Given the description of an element on the screen output the (x, y) to click on. 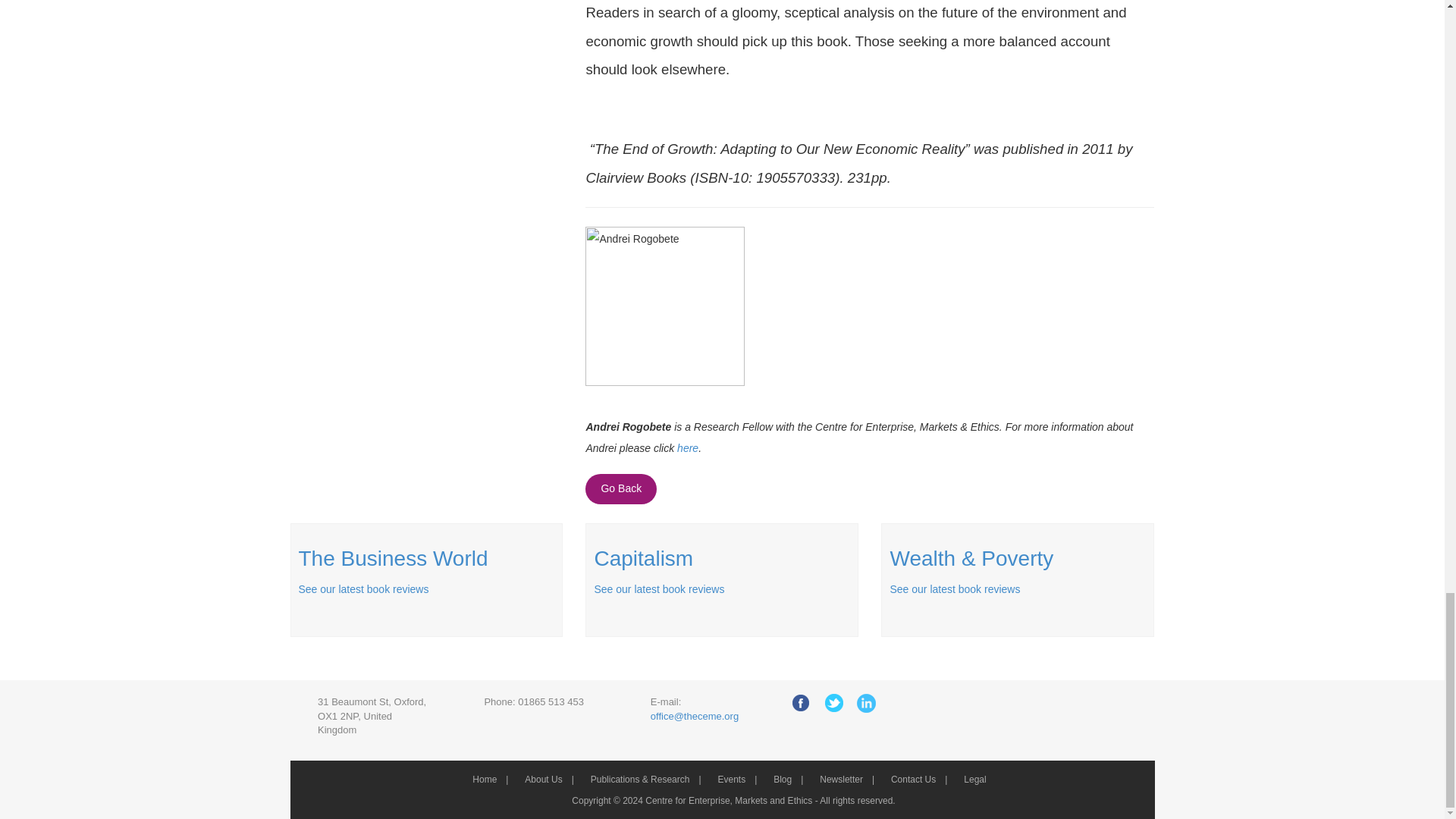
Blog (789, 778)
Go Back (620, 489)
The Business World (392, 558)
Legal (980, 778)
Contact Us (920, 778)
here (687, 448)
Home (491, 778)
See our latest book reviews (363, 589)
About Us (549, 778)
See our latest book reviews (658, 589)
Newsletter (847, 778)
Capitalism (643, 558)
Events (737, 778)
See our latest book reviews (954, 589)
